Given the description of an element on the screen output the (x, y) to click on. 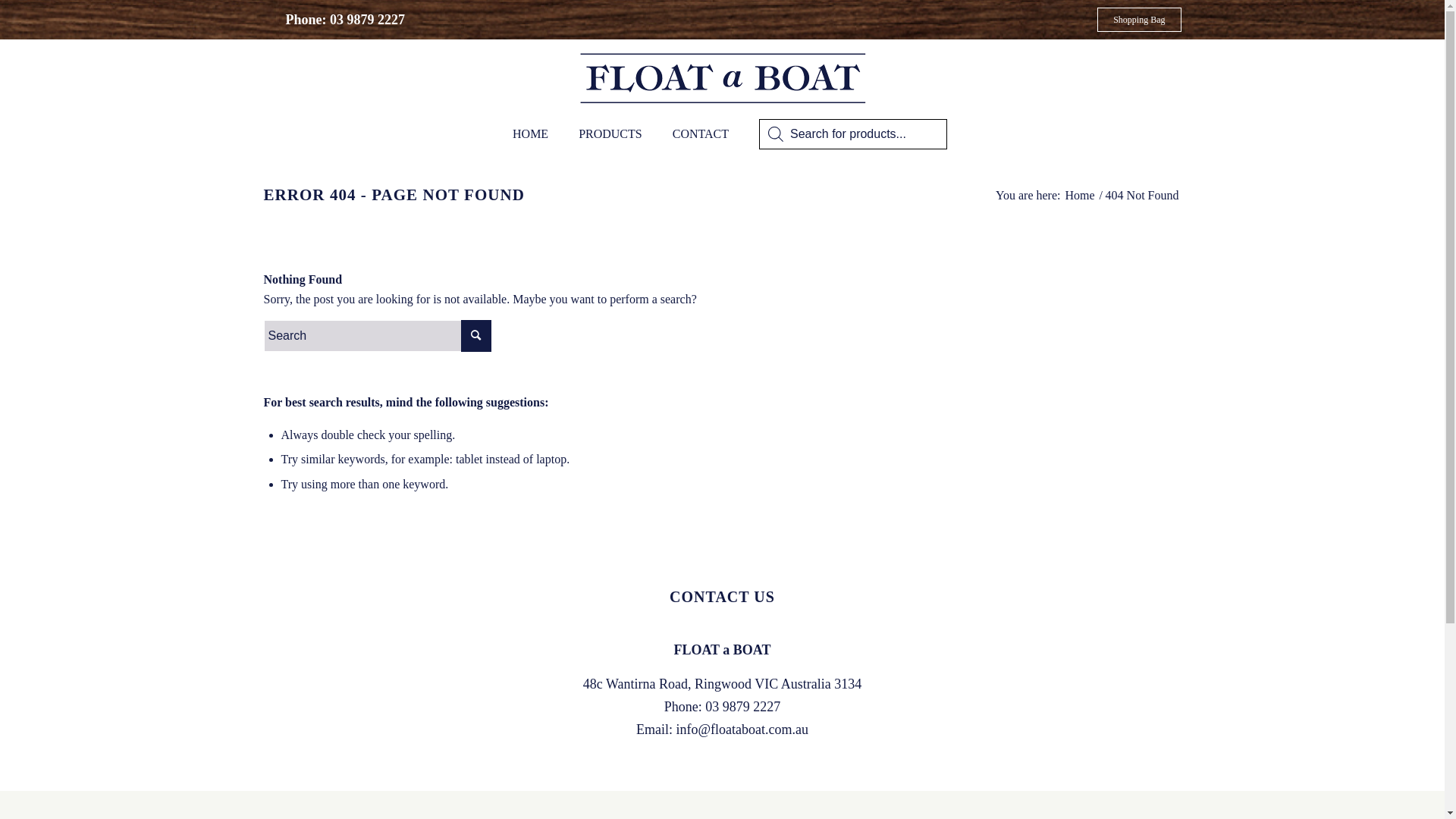
CONTACT Element type: text (700, 134)
Shopping Bag Element type: text (1138, 19)
info@floataboat.com.au Element type: text (741, 729)
PRODUCTS Element type: text (610, 134)
logo_03 Element type: hover (721, 77)
Home Element type: text (1079, 194)
HOME Element type: text (530, 134)
